Given the description of an element on the screen output the (x, y) to click on. 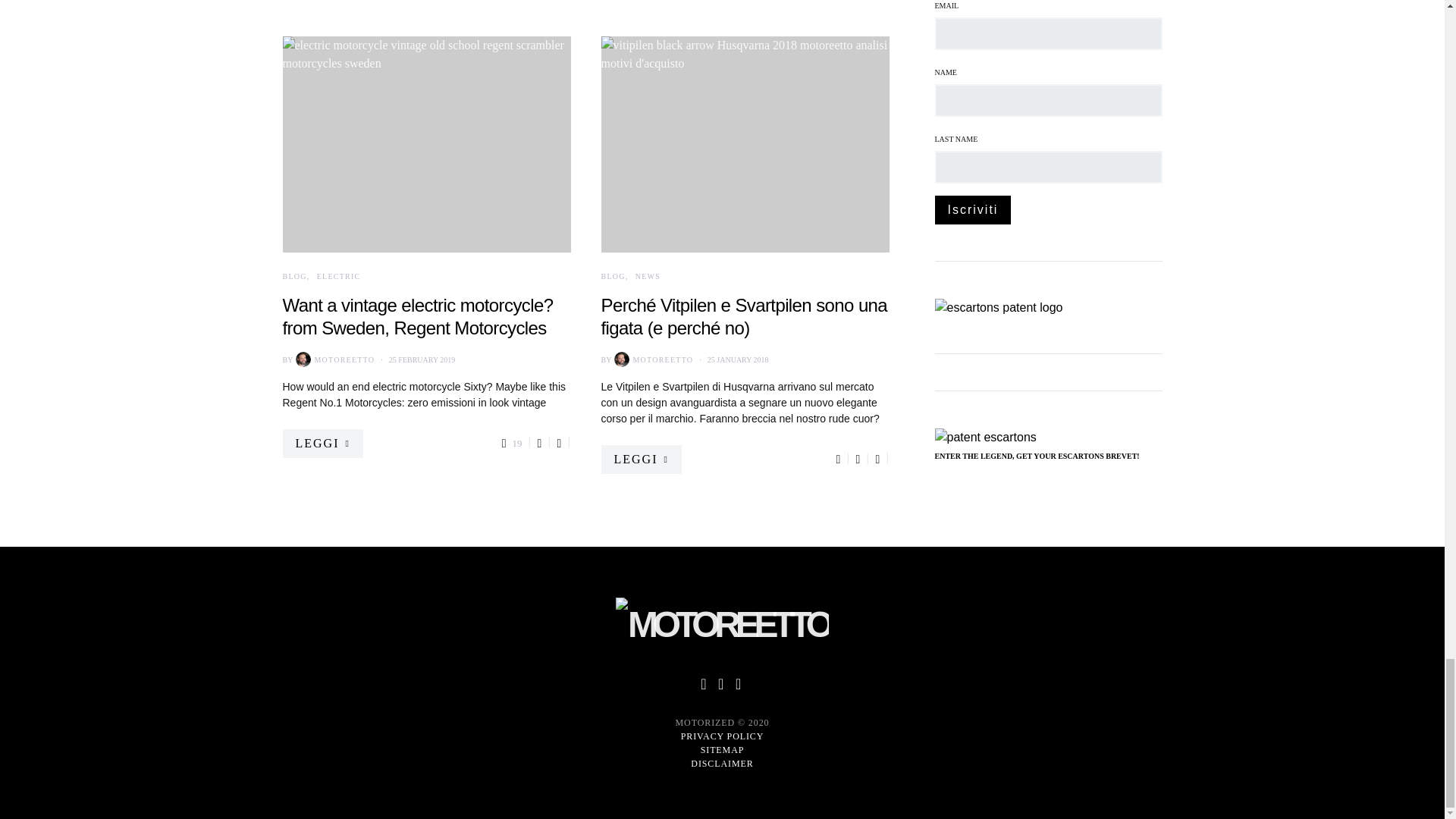
View all posts by Motoreetto (652, 359)
View all posts by Motoreetto (333, 359)
